Given the description of an element on the screen output the (x, y) to click on. 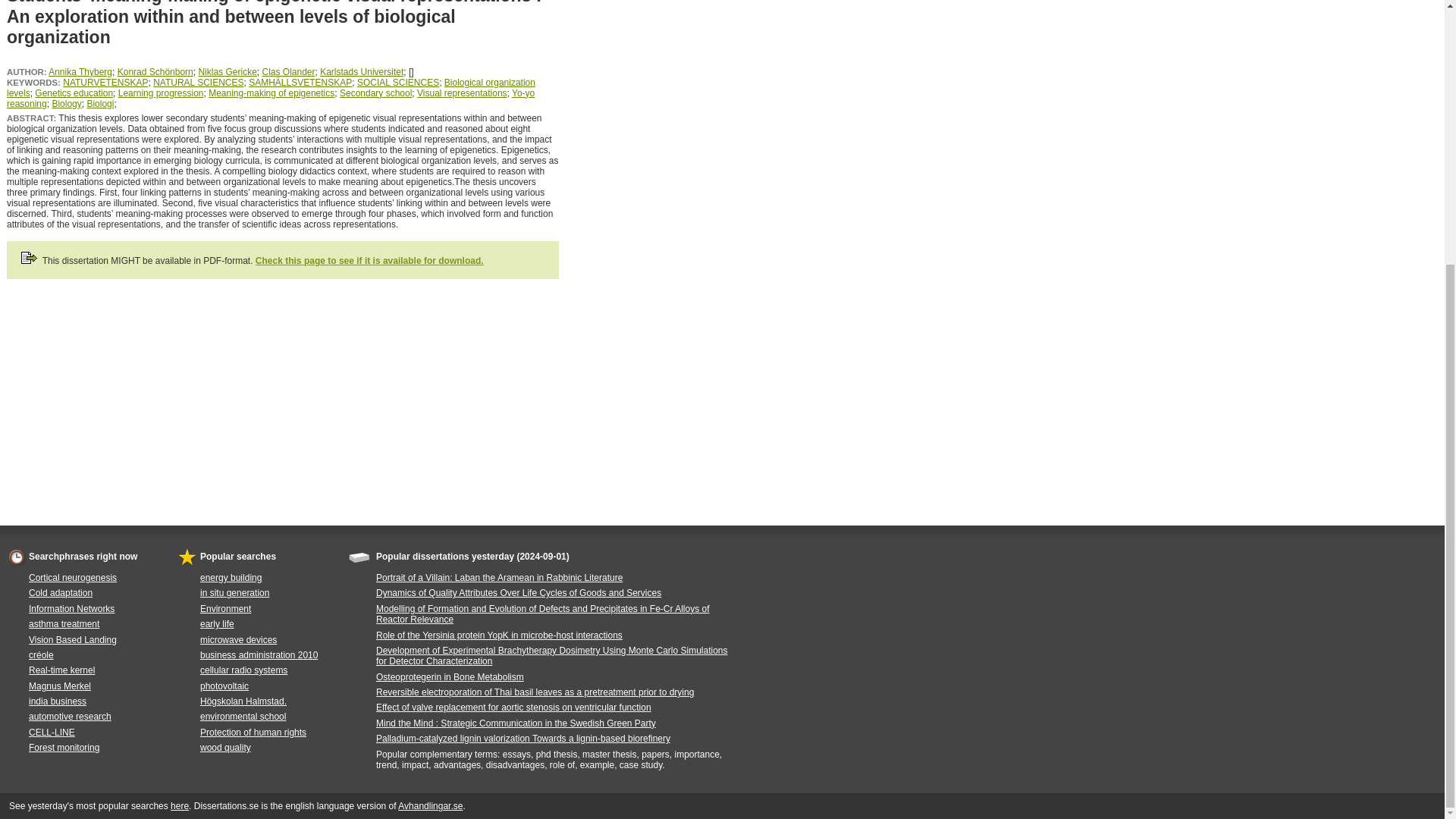
Information Networks (72, 608)
NATURVETENSKAP (105, 81)
Magnus Merkel (59, 685)
CELL-LINE (52, 732)
Biologi (99, 103)
Cortical neurogenesis (72, 577)
Niklas Gericke (227, 71)
Meaning-making of epigenetics (271, 92)
energy building (231, 577)
Forest monitoring (64, 747)
